Given the description of an element on the screen output the (x, y) to click on. 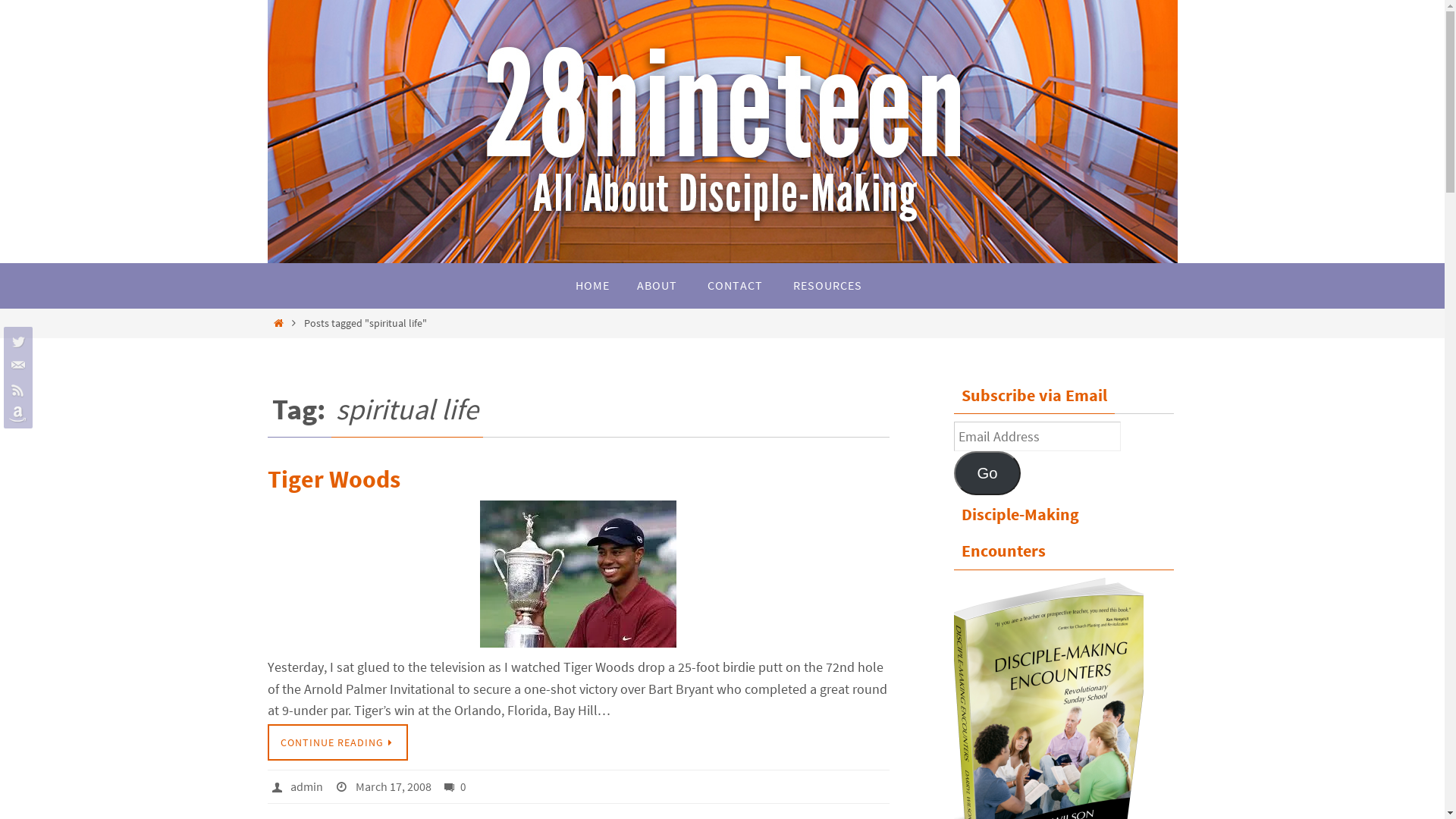
HOME Element type: text (591, 285)
Author  Element type: hover (278, 785)
admin Element type: text (306, 786)
28Nineteen Element type: hover (721, 131)
Buy my book Element type: hover (15, 413)
ABOUT Element type: text (656, 285)
March 17, 2008 Element type: text (393, 786)
RESOURCES Element type: text (827, 285)
Date Element type: hover (343, 785)
Go Element type: text (987, 473)
Follow me on Twitter Element type: hover (15, 340)
Leave a comment Element type: hover (451, 786)
Tiger Woods Element type: text (332, 479)
Home Element type: text (278, 322)
Tiger Woods Element type: hover (577, 573)
Send me an email Element type: hover (15, 365)
RSS Feed Element type: hover (15, 389)
CONTINUE READING Element type: text (336, 742)
CONTACT Element type: text (734, 285)
0 Element type: text (454, 786)
